Given the description of an element on the screen output the (x, y) to click on. 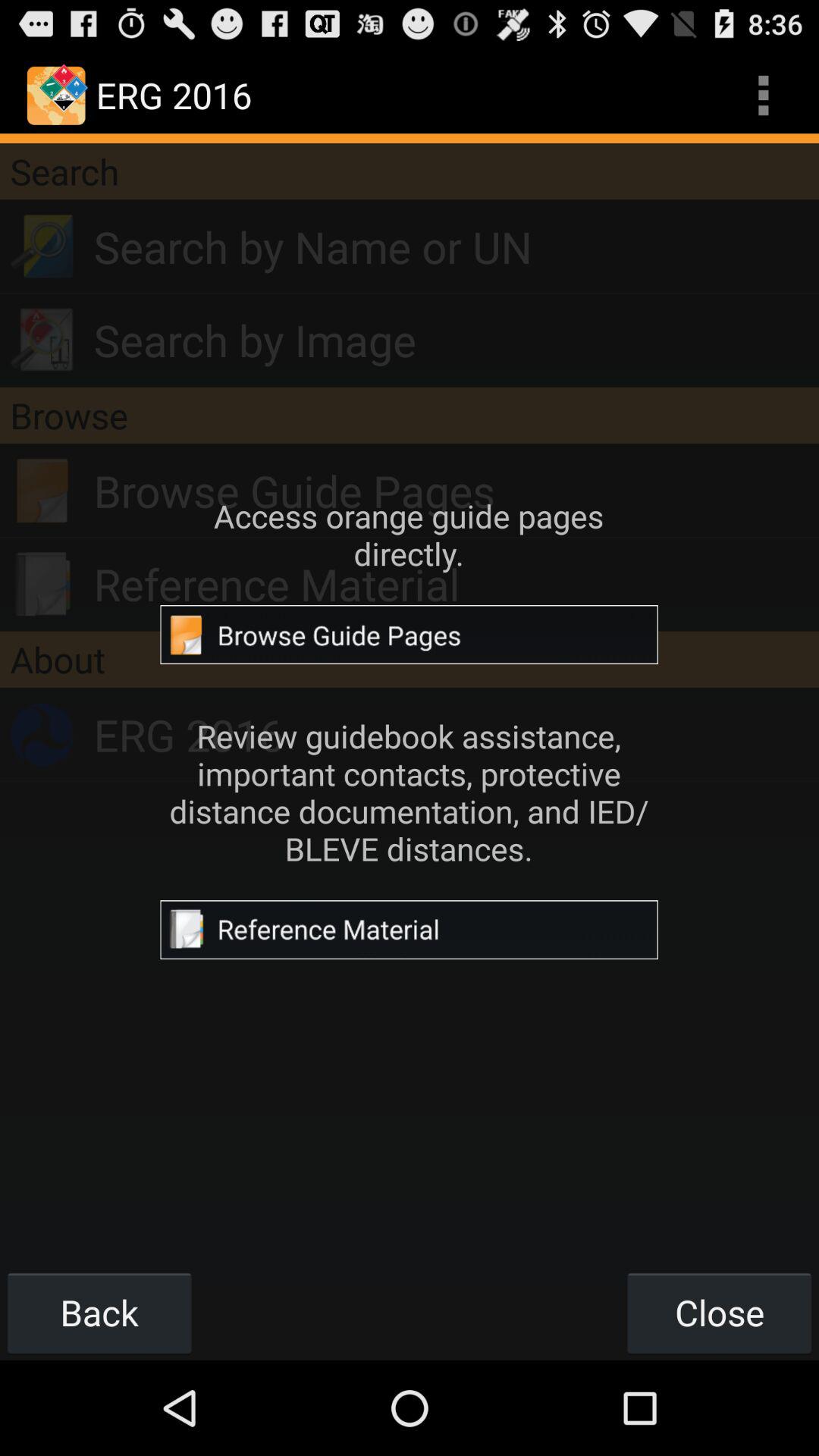
click app below reference material app (409, 659)
